Given the description of an element on the screen output the (x, y) to click on. 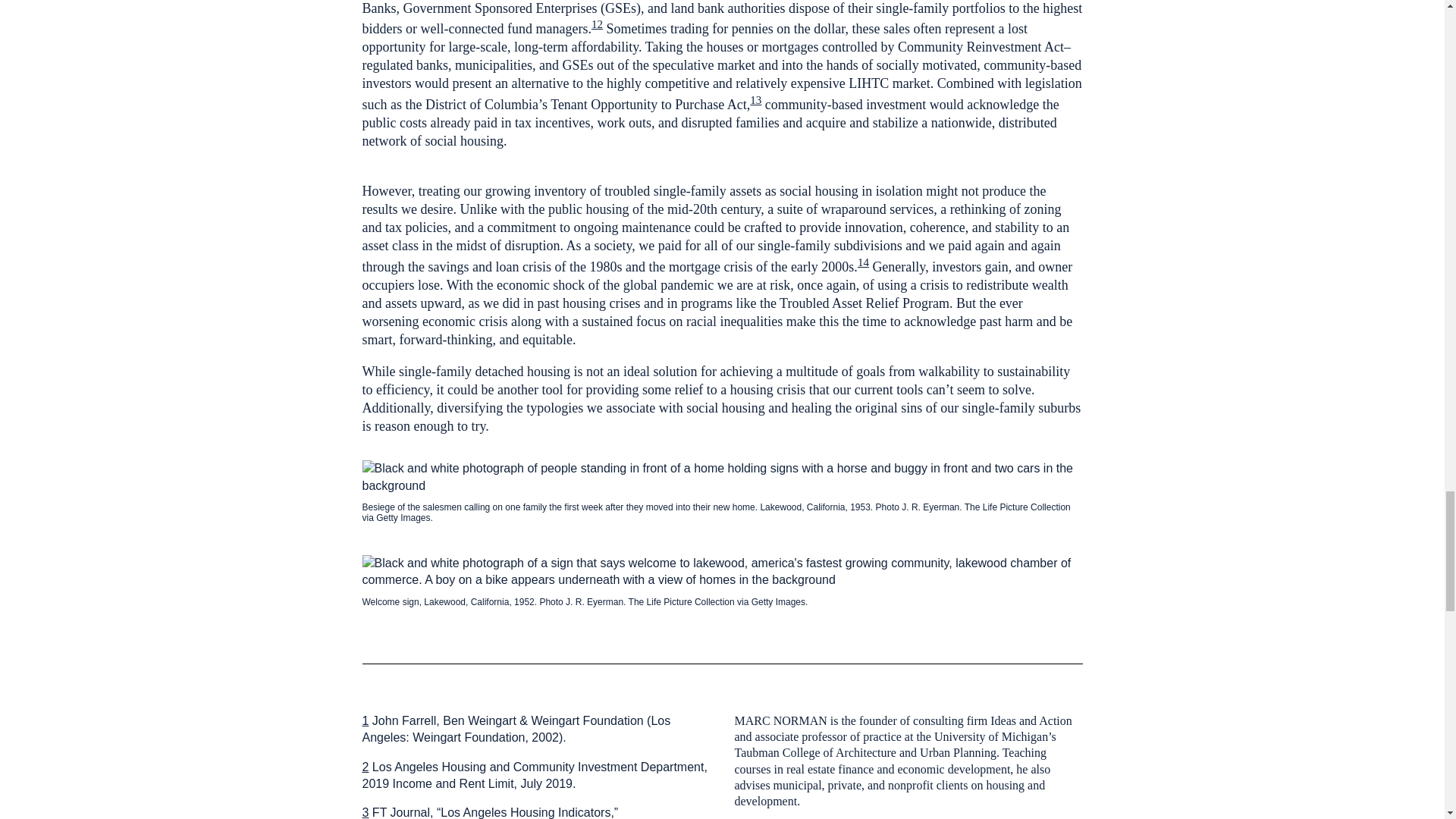
13 (755, 100)
14 (863, 262)
12 (596, 24)
